Given the description of an element on the screen output the (x, y) to click on. 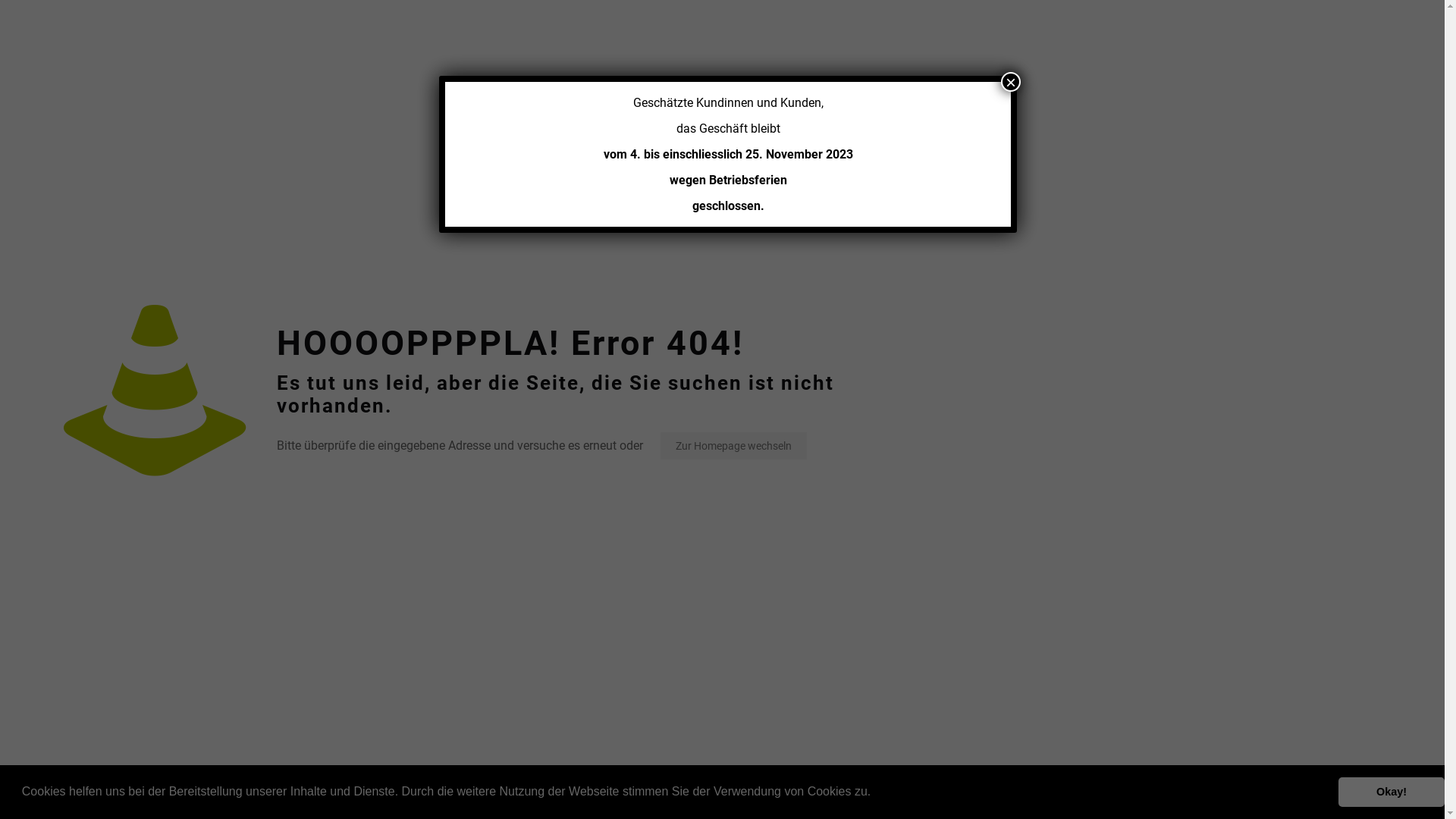
Okay! Element type: text (1391, 791)
Zur Homepage wechseln Element type: text (733, 445)
